Given the description of an element on the screen output the (x, y) to click on. 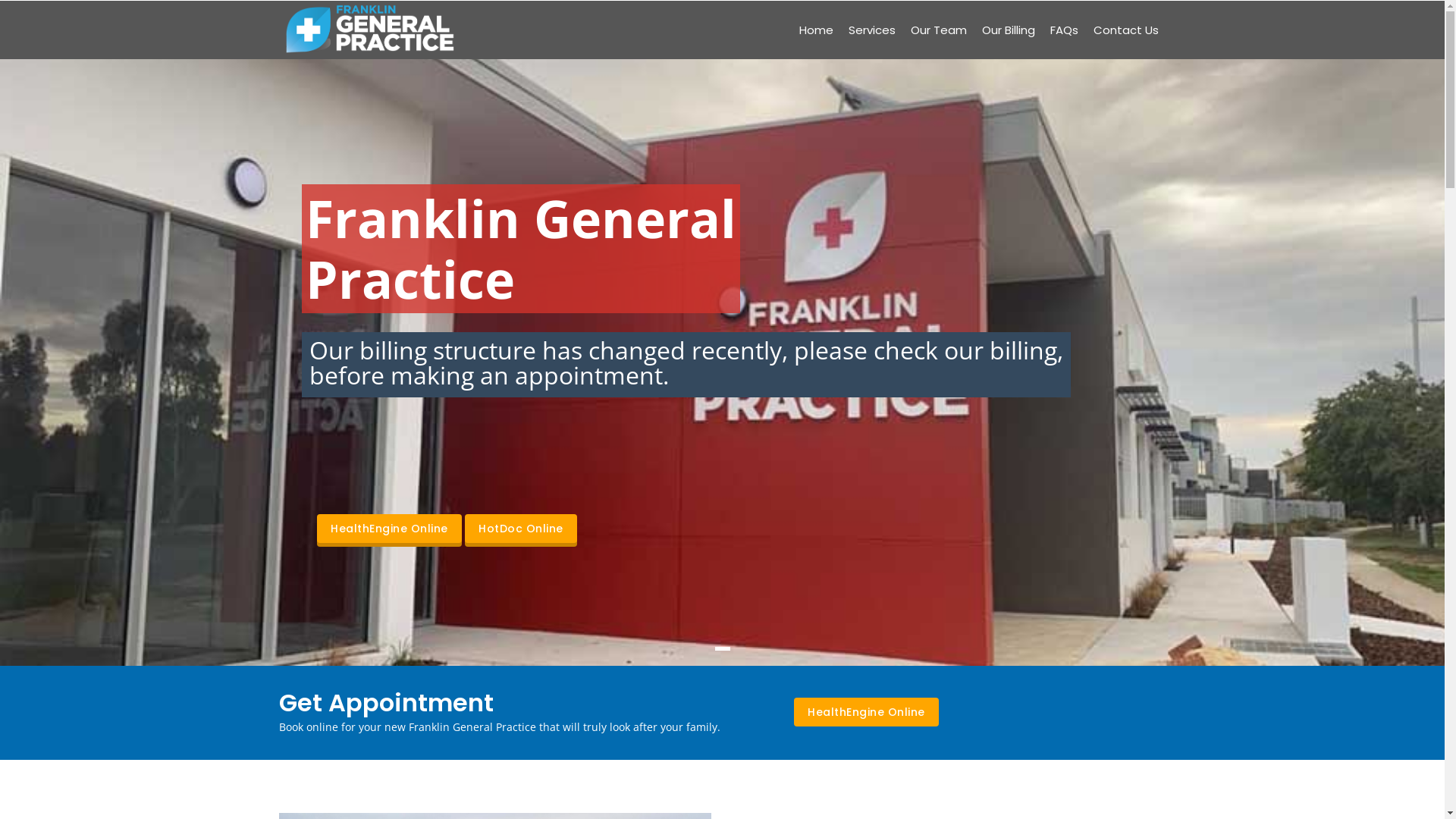
Contact Us Element type: text (1125, 29)
HealthEngine Online Element type: text (865, 711)
Skip to main content Element type: text (0, 0)
FAQs Element type: text (1063, 29)
Our Billing Element type: text (1007, 29)
Services Element type: text (871, 29)
Our Team Element type: text (937, 29)
Home Element type: text (815, 29)
Home Element type: hover (370, 29)
HealthEngine Online Element type: text (388, 528)
HotDoc Online Element type: text (520, 528)
